Given the description of an element on the screen output the (x, y) to click on. 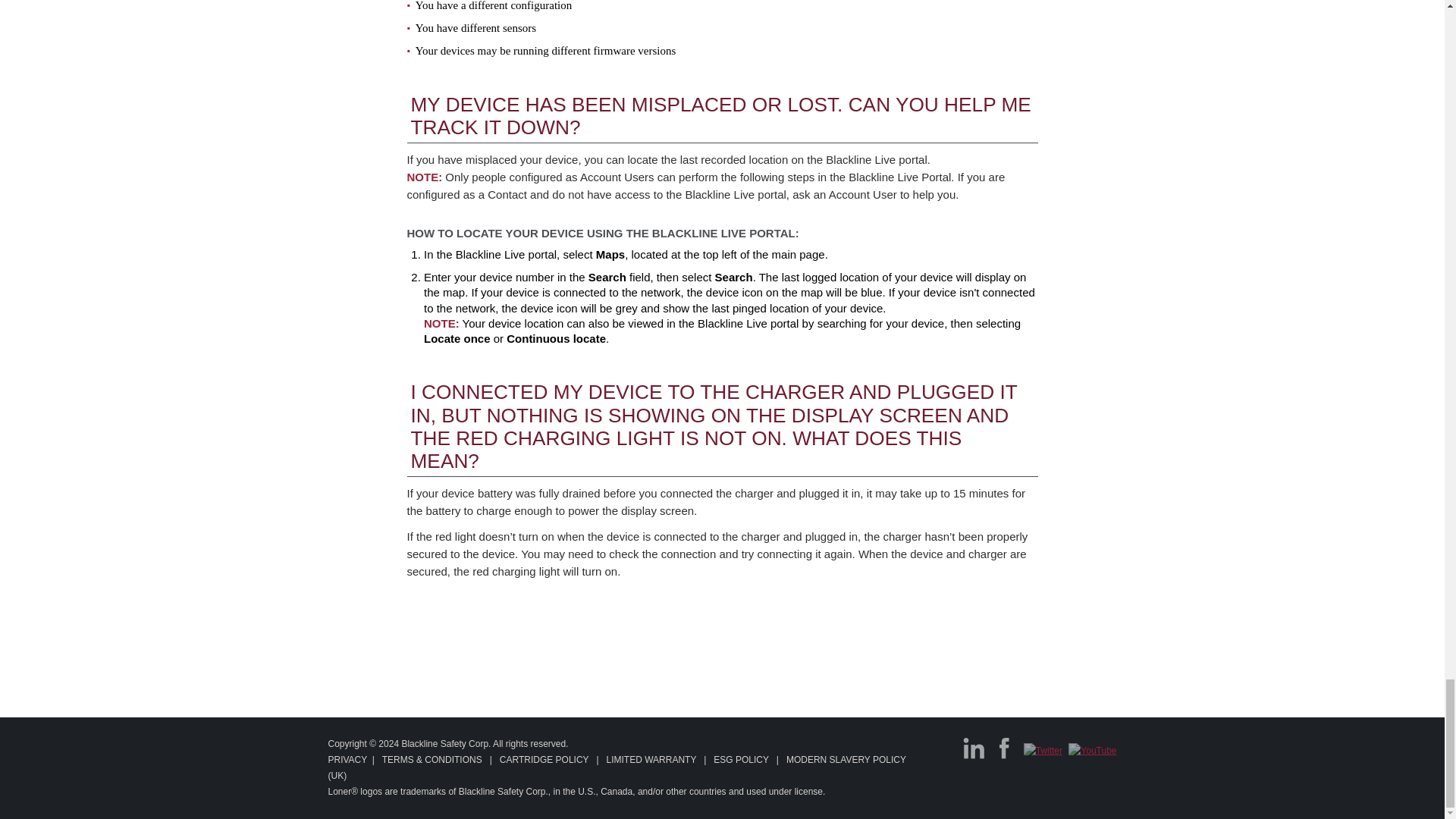
YouTube (1092, 750)
Facebook (1004, 747)
LinkedIn (974, 747)
Twitter (1042, 750)
